Given the description of an element on the screen output the (x, y) to click on. 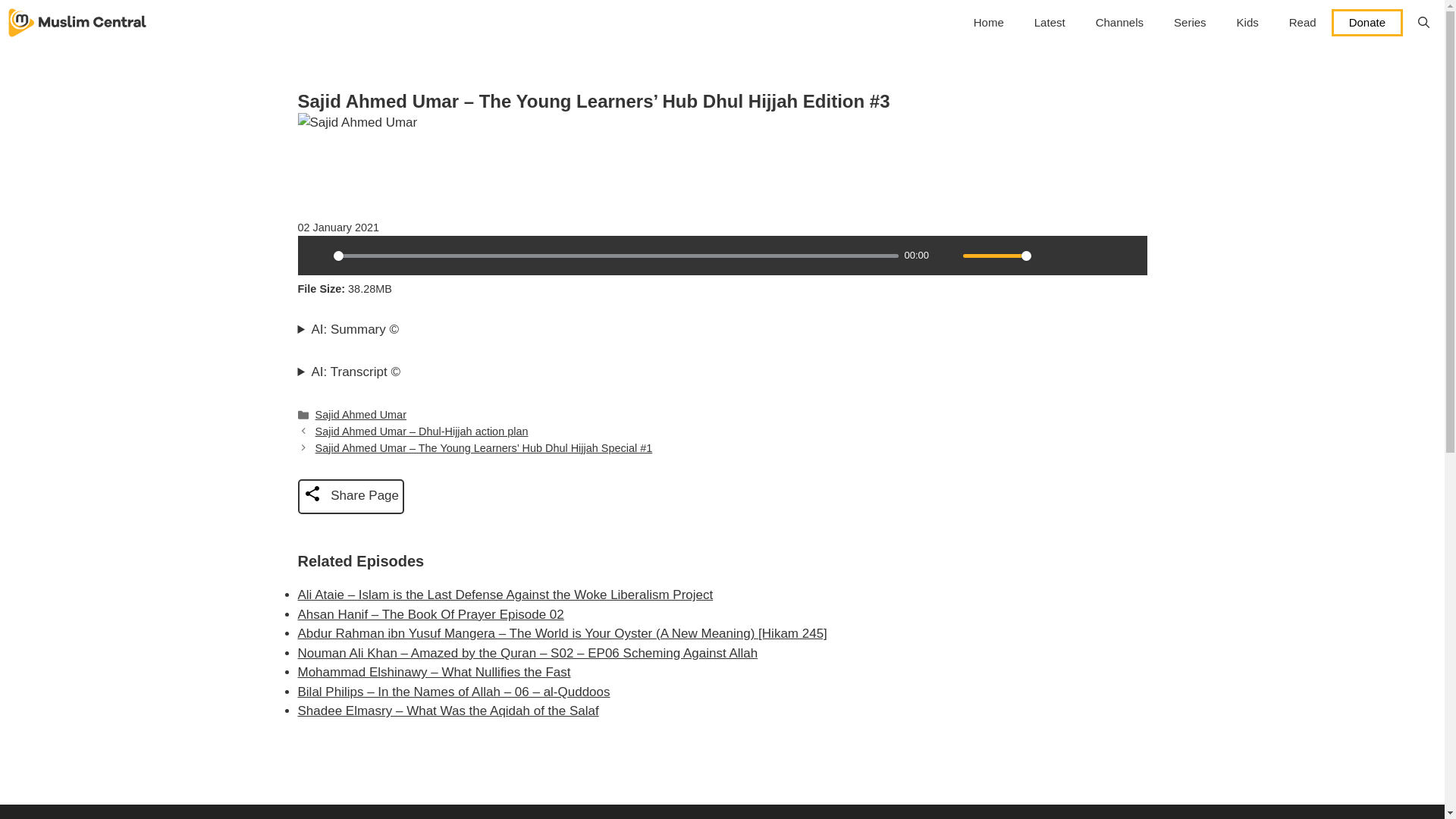
Sajid Ahmed Umar (360, 414)
Forward 10s (1126, 255)
Kids (1247, 22)
Muslim Central (77, 22)
Mute (946, 255)
Play (316, 255)
Settings (1048, 255)
Home (988, 22)
Rewind 10s (1101, 255)
Latest (1049, 22)
Donate (1367, 22)
Channels (1119, 22)
Series (1189, 22)
Download (1074, 255)
1 (996, 255)
